Given the description of an element on the screen output the (x, y) to click on. 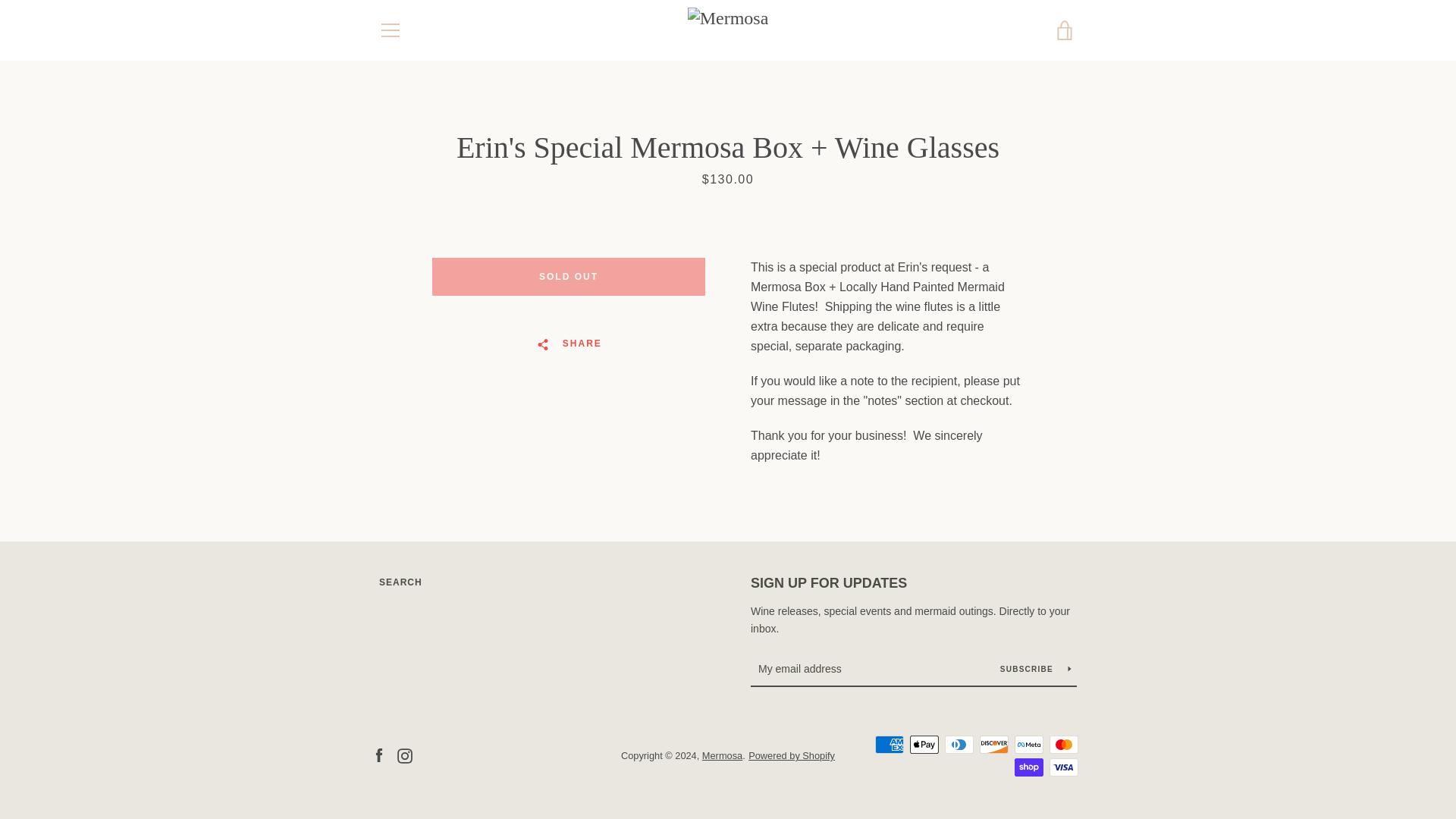
Mermosa on Facebook (379, 754)
SUBSCRIBE (1035, 668)
SHARE (568, 343)
Instagram (404, 754)
Meta Pay (1028, 744)
Facebook (379, 754)
SOLD OUT (568, 276)
Mermosa on Instagram (404, 754)
Mastercard (1063, 744)
Mermosa (721, 755)
